Given the description of an element on the screen output the (x, y) to click on. 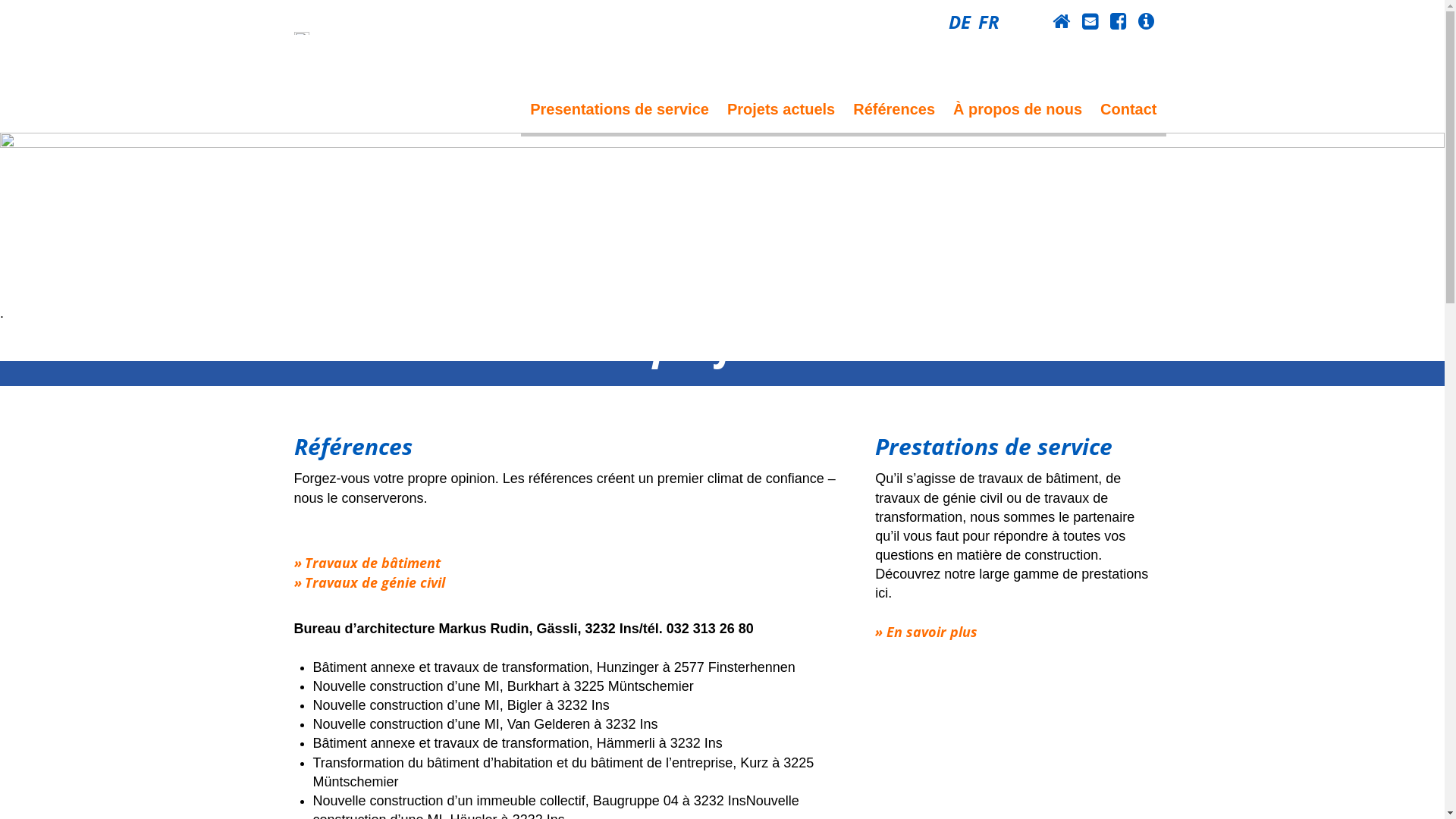
Facebook Element type: hover (1118, 20)
Presentations de service Element type: text (619, 109)
Contact Element type: text (1128, 109)
DE Element type: text (958, 21)
Projets actuels Element type: text (781, 109)
Home Element type: hover (1061, 20)
FR Element type: text (988, 21)
Contact Element type: hover (1089, 20)
